Given the description of an element on the screen output the (x, y) to click on. 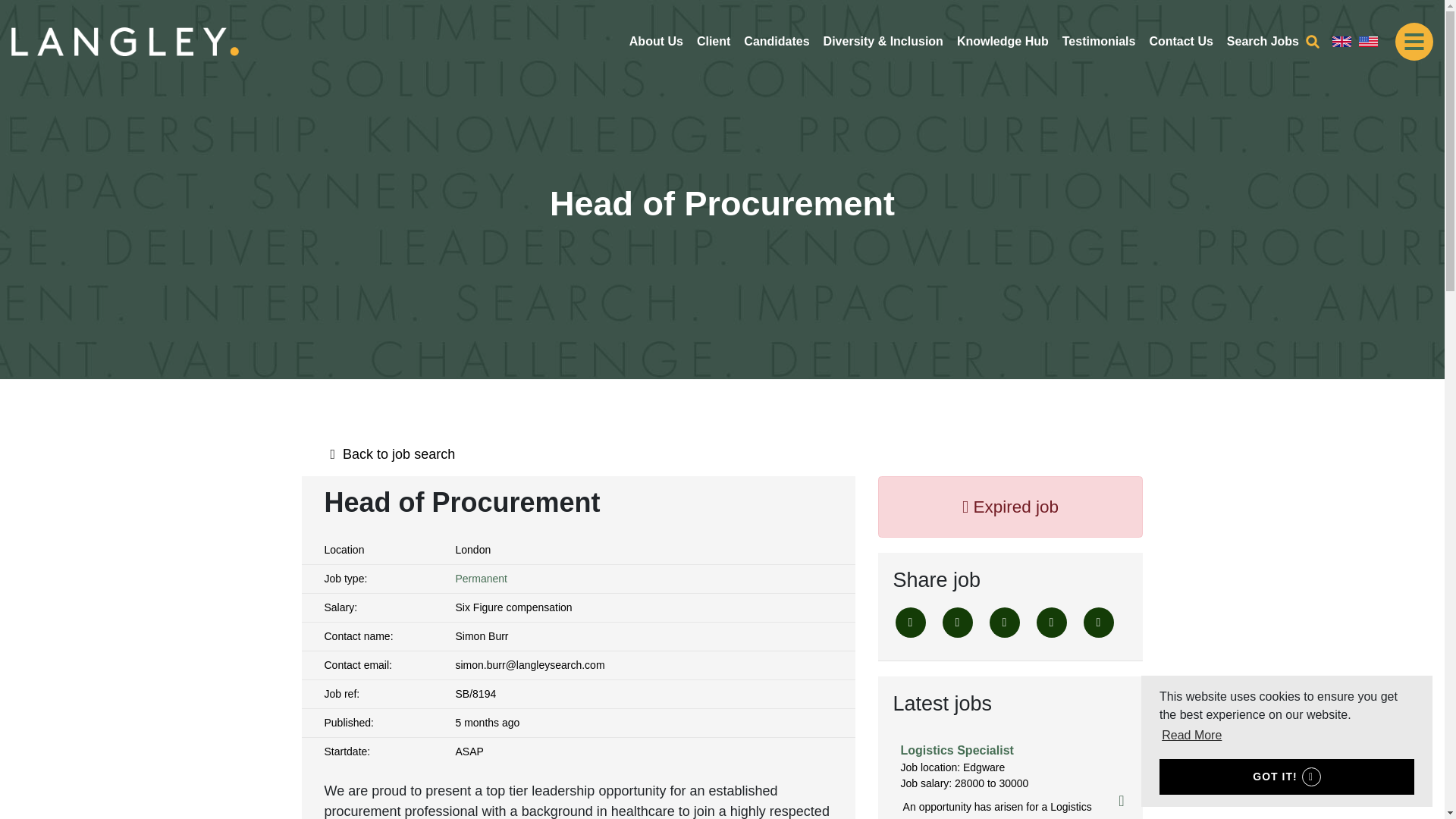
GOT IT! (1285, 776)
share on LinkedIn (1003, 622)
send in Whatsapp (1098, 622)
Tweet this (909, 622)
share on Facebook (957, 622)
Email (1050, 622)
Read More (1191, 734)
About Us (656, 40)
